Given the description of an element on the screen output the (x, y) to click on. 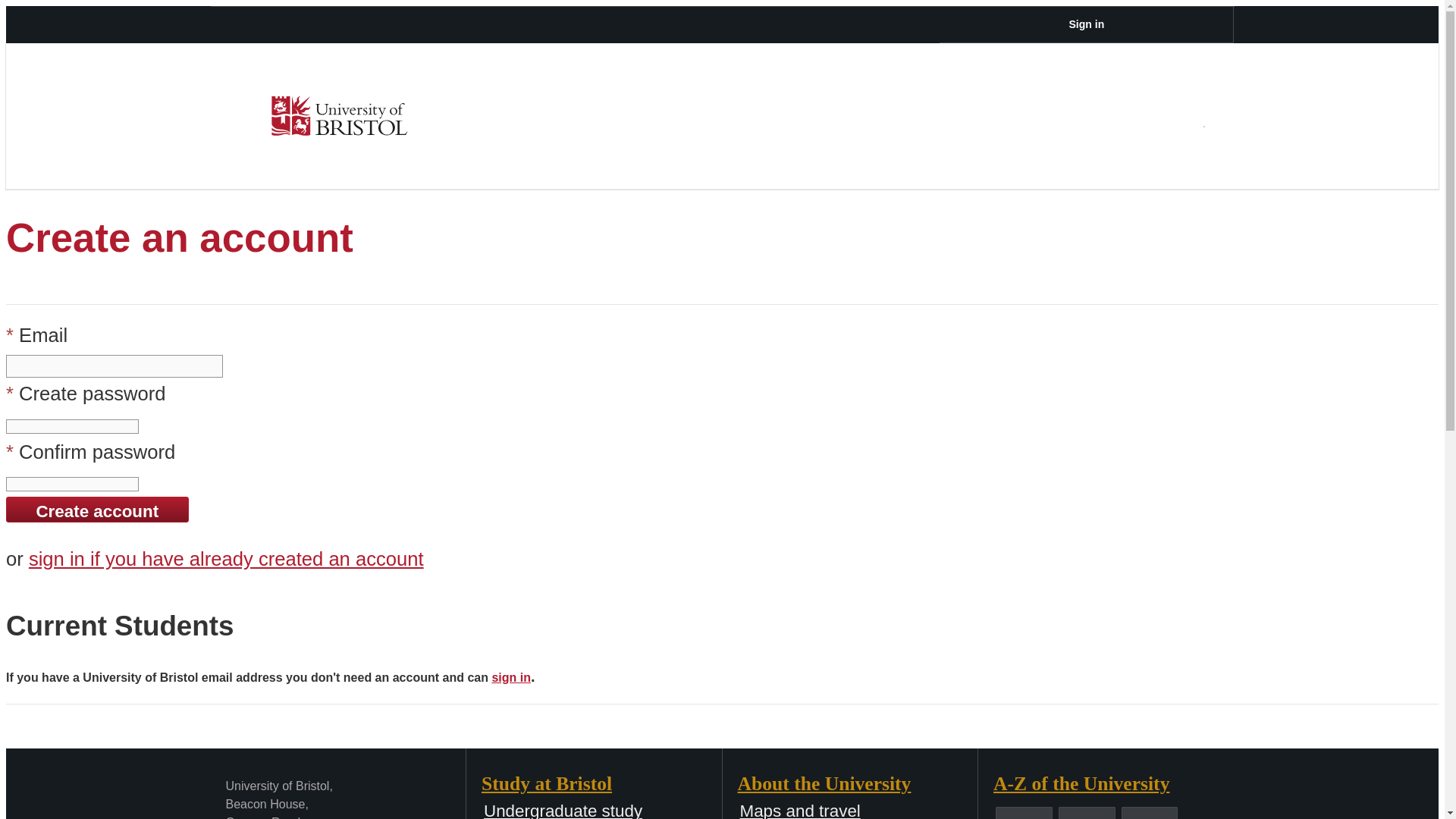
sign in if you have already created an account (226, 558)
Create account (97, 509)
Create account (97, 509)
Email (113, 365)
sign in (511, 676)
Homepage (338, 115)
University of bristol (338, 115)
Undergraduate study (562, 810)
Maps and travel (799, 810)
Create account (97, 509)
Confirm Password (71, 483)
About the University (856, 784)
Study at Bristol (601, 784)
Create Password (71, 425)
Sign in (1086, 24)
